Given the description of an element on the screen output the (x, y) to click on. 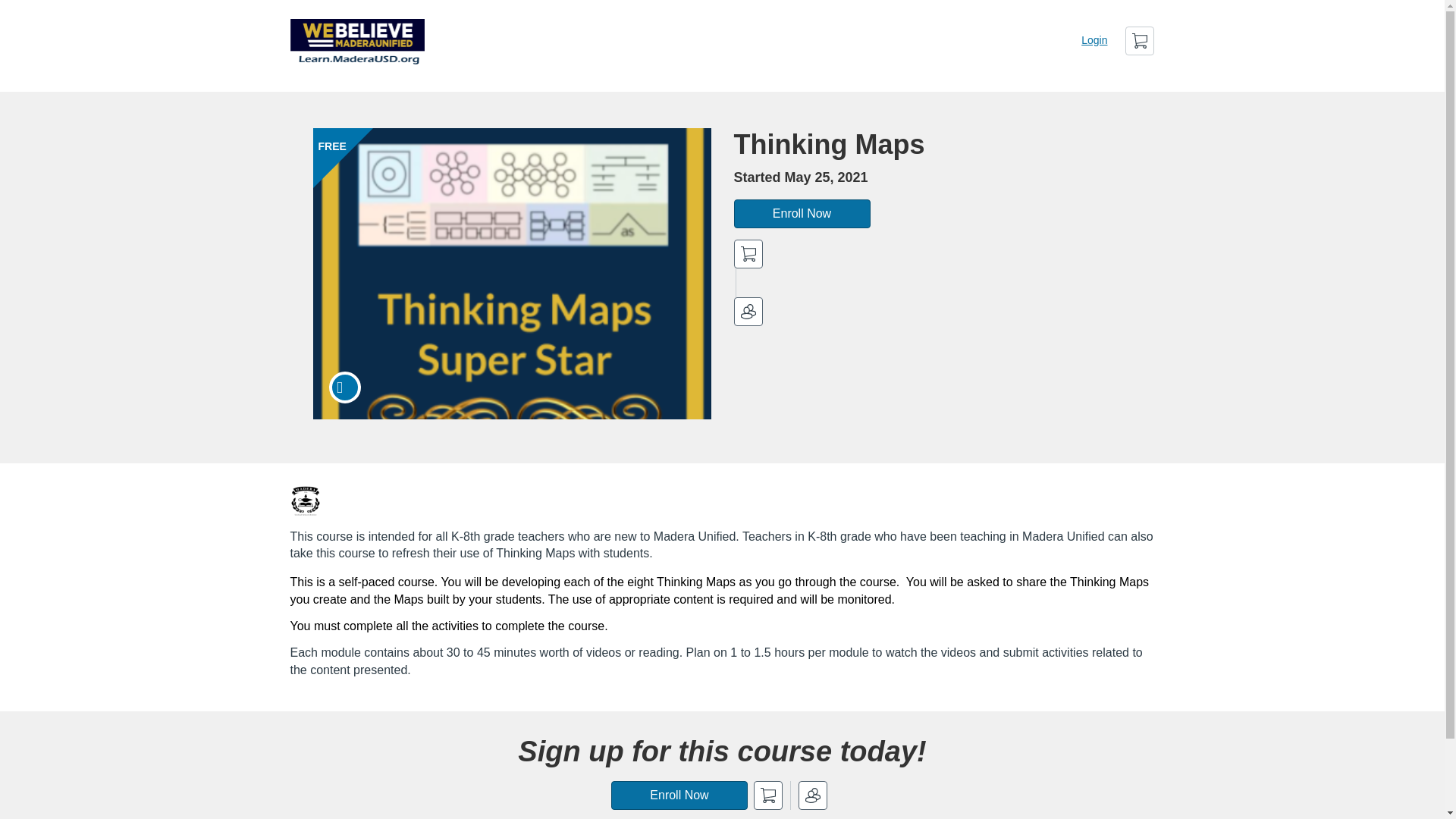
Cart (1139, 40)
Madera Unified (304, 501)
Bulk Purchase (747, 311)
Course (345, 387)
Enroll Now (679, 795)
Bulk Purchase (812, 795)
Enroll Now (801, 213)
Login (1093, 39)
Add to Cart (747, 253)
Log in to Madera Unified (1093, 39)
